Given the description of an element on the screen output the (x, y) to click on. 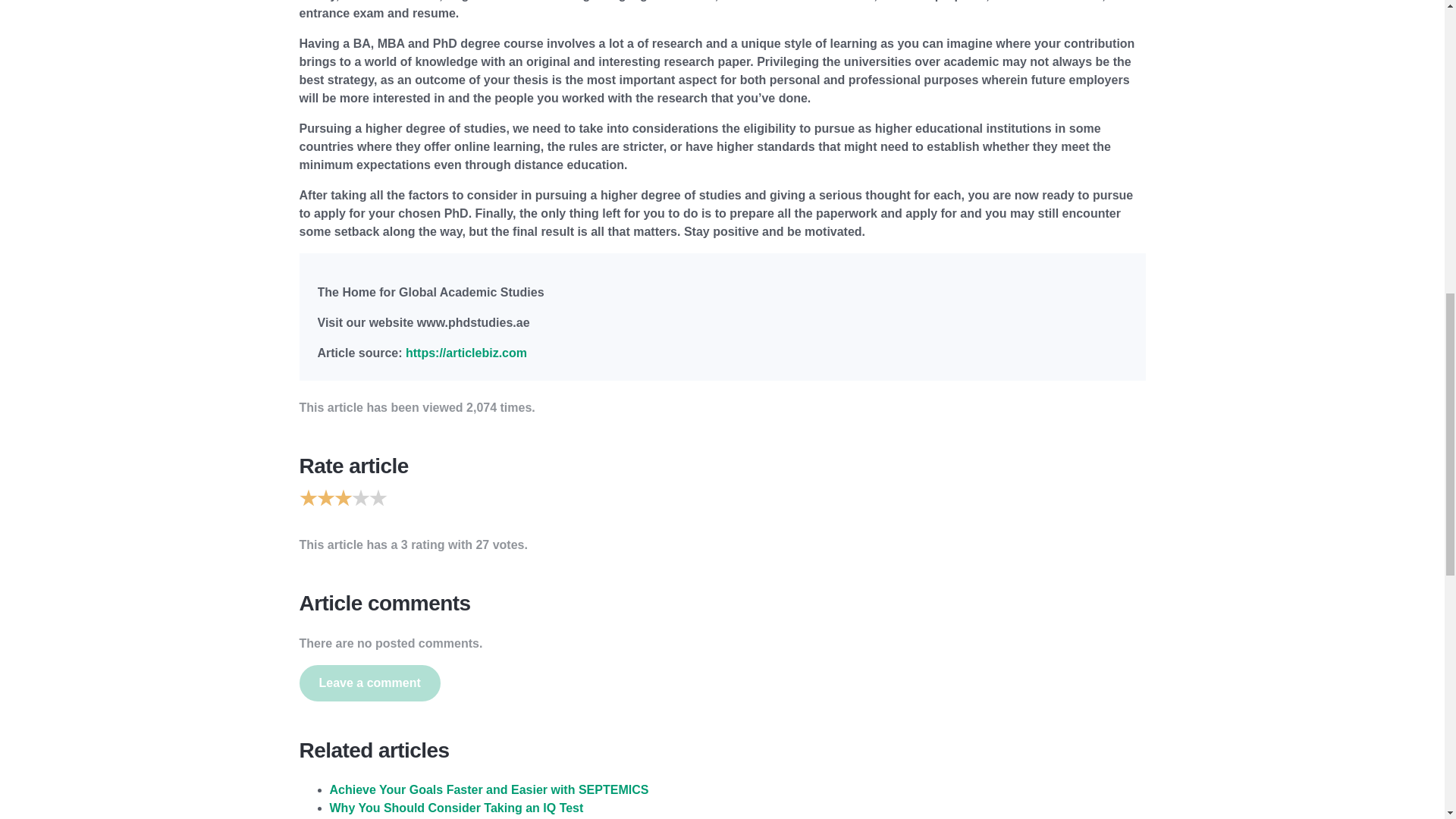
Why You Should Consider Taking an IQ Test (456, 807)
Achieve Your Goals Faster and Easier with SEPTEMICS (488, 789)
Leave a comment (368, 683)
